Given the description of an element on the screen output the (x, y) to click on. 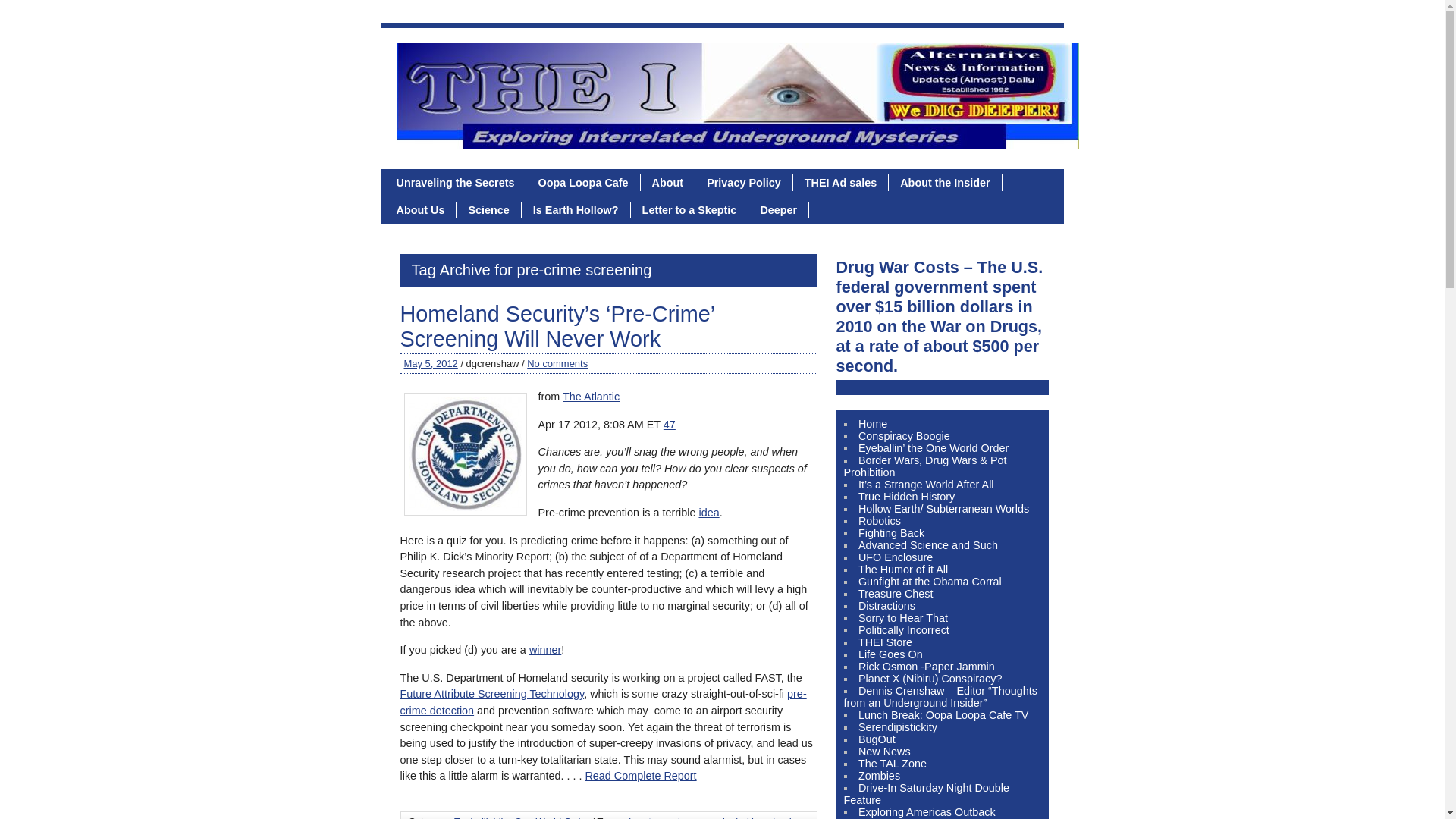
The Atlantic (591, 396)
About Us (421, 209)
True Hidden History (907, 496)
Future Attribute Screening Technology (492, 693)
Privacy Policy (744, 182)
Powered by Text-Enhance (544, 649)
pre-crime detection (603, 701)
Oopa Loopa Cafe (582, 182)
Deeper (778, 209)
Gunfight at the Obama Corral (930, 581)
Letter to a Skeptic (689, 209)
airport securiyu screeningh (682, 817)
Eyeballin' the One World Order (520, 817)
Read Complete Report (640, 775)
About the Insider (944, 182)
